Given the description of an element on the screen output the (x, y) to click on. 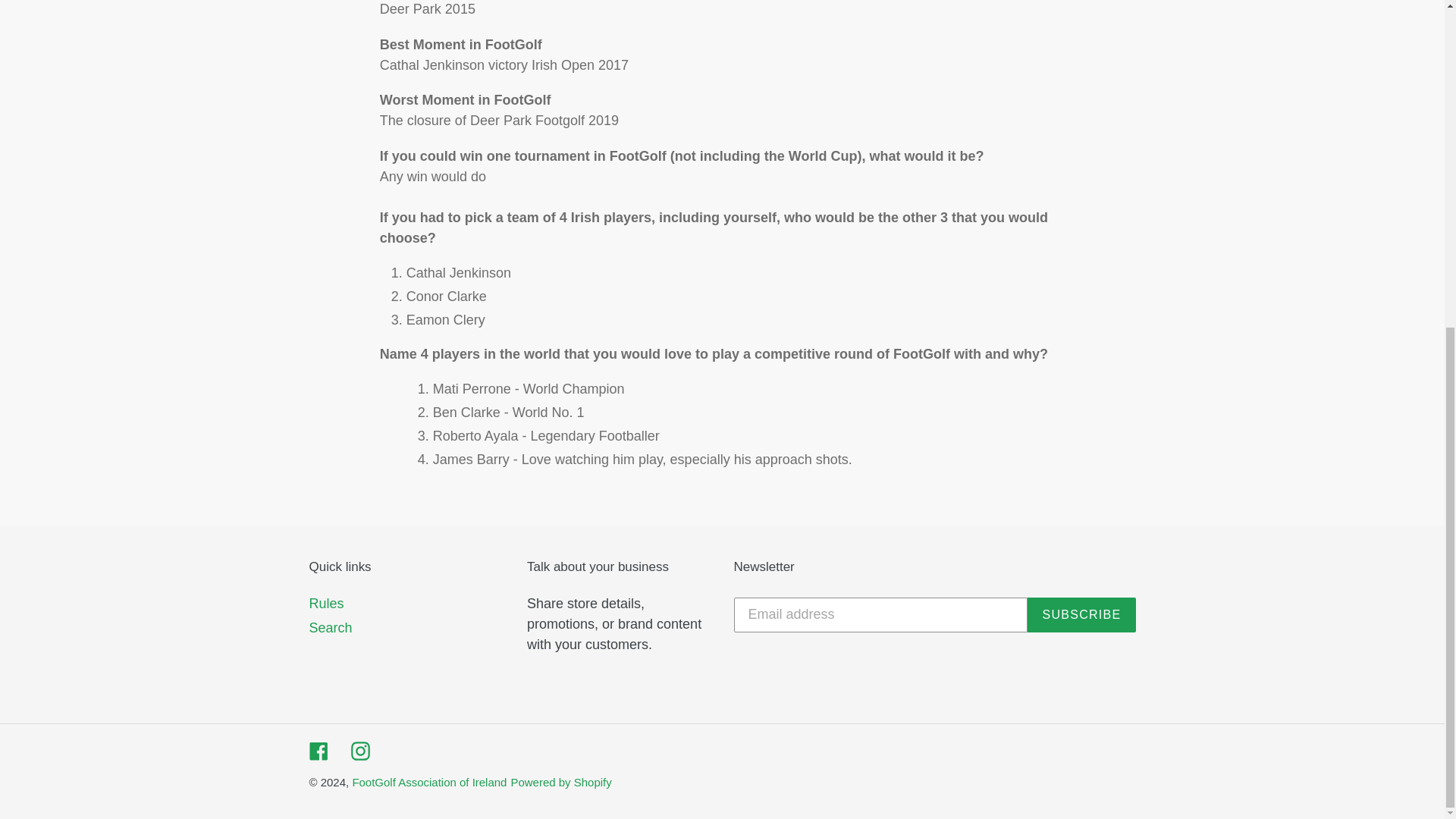
Search (330, 627)
Instagram (359, 750)
Rules (325, 603)
SUBSCRIBE (1081, 614)
FootGolf Association of Ireland (429, 781)
Facebook (318, 750)
Powered by Shopify (561, 781)
